Given the description of an element on the screen output the (x, y) to click on. 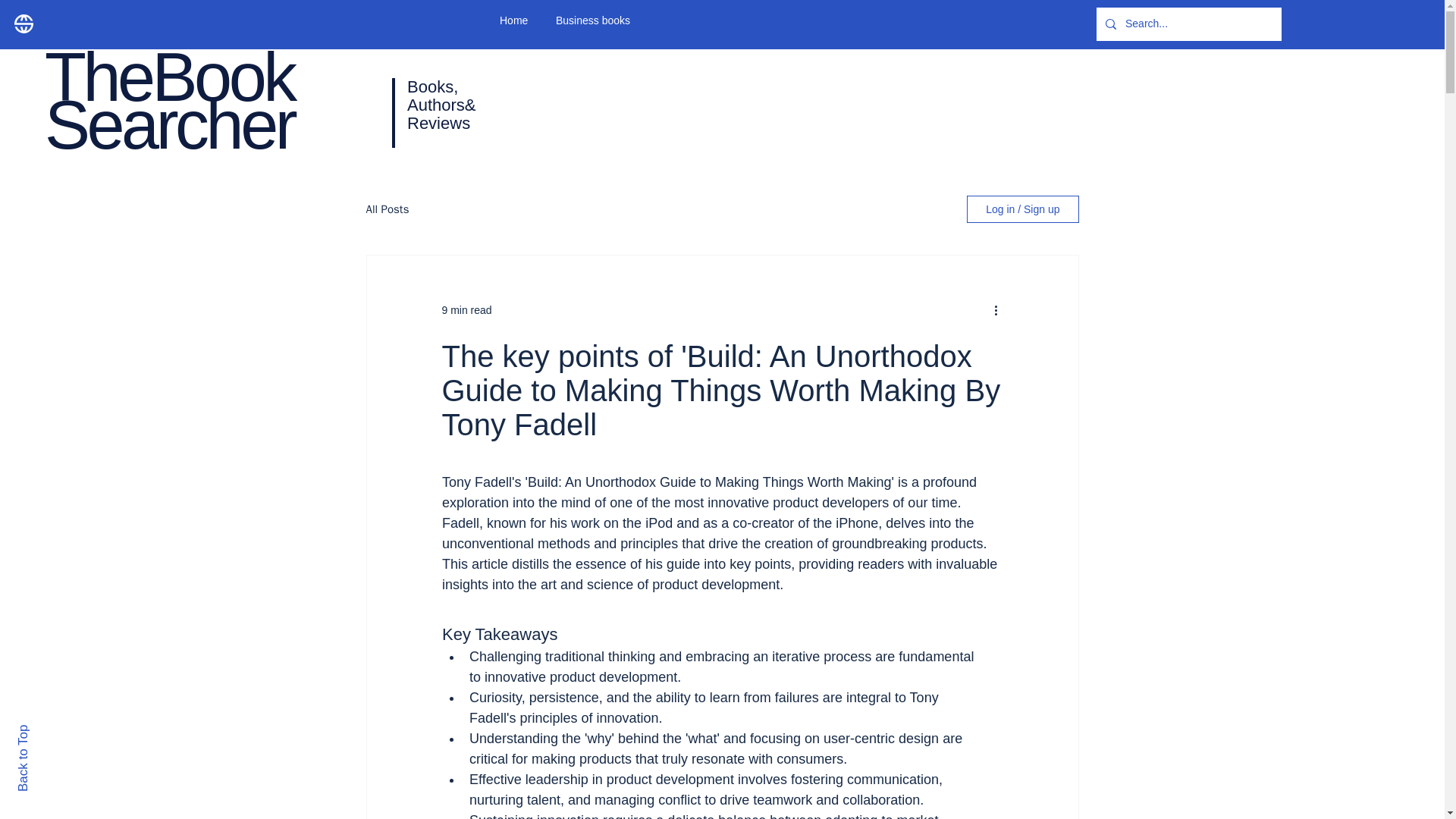
9 min read (466, 309)
Business books (601, 20)
All Posts (387, 208)
Searcher (169, 124)
Back to Top (49, 730)
TheBook (169, 77)
Home (515, 20)
